Given the description of an element on the screen output the (x, y) to click on. 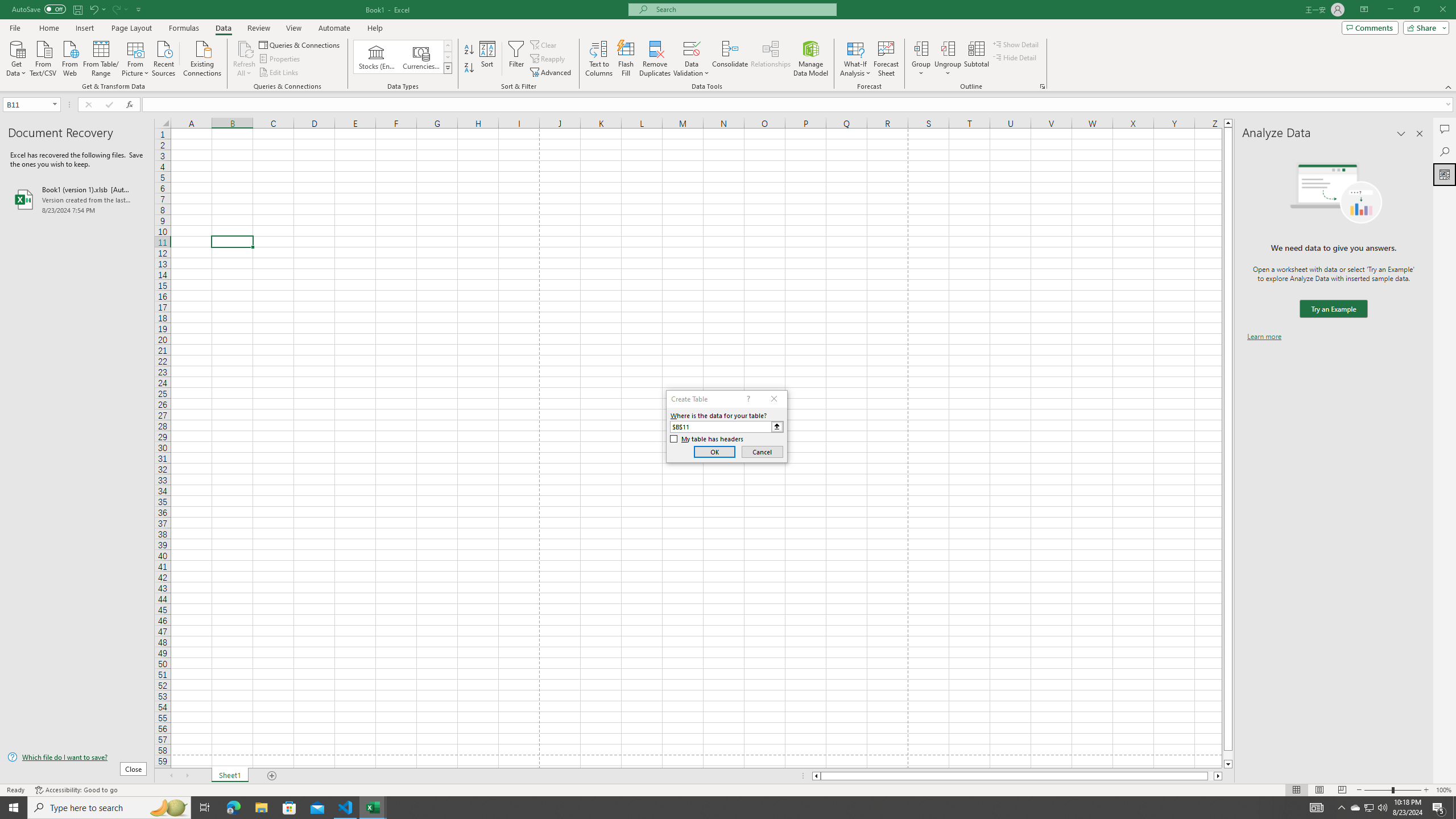
Manage Data Model (810, 58)
Stocks (English) (375, 56)
Group and Outline Settings (1042, 85)
Learn more (1264, 336)
Text to Columns... (598, 58)
Filter (515, 58)
Remove Duplicates (654, 58)
